Given the description of an element on the screen output the (x, y) to click on. 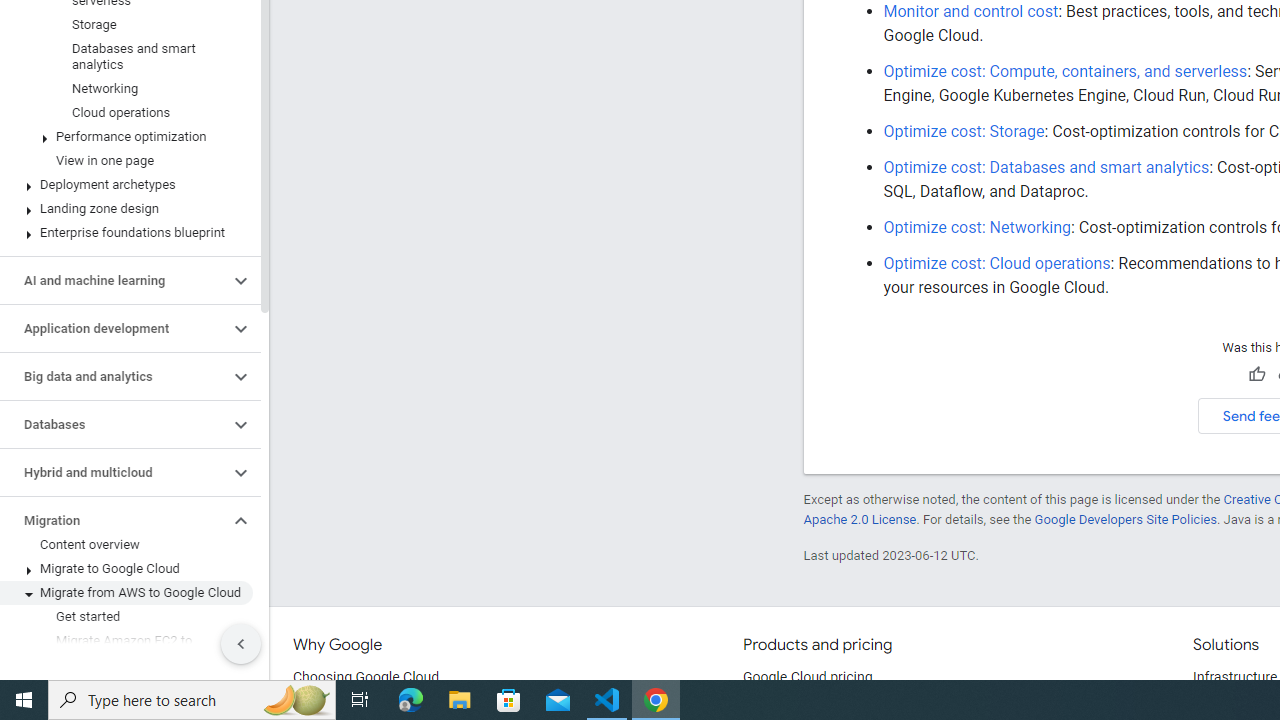
Migrate from AWS to Google Cloud (126, 592)
Cloud operations (126, 112)
Deployment archetypes (126, 184)
Google Cloud pricing (807, 677)
Get started (126, 616)
Databases and smart analytics (126, 56)
Migration (114, 520)
Optimize cost: Databases and smart analytics (1046, 167)
Migrate Amazon EC2 to Compute Engine (126, 648)
Enterprise foundations blueprint (126, 232)
Optimize cost: Cloud operations (997, 263)
Big data and analytics (114, 376)
Content overview (126, 544)
Databases (114, 425)
